Given the description of an element on the screen output the (x, y) to click on. 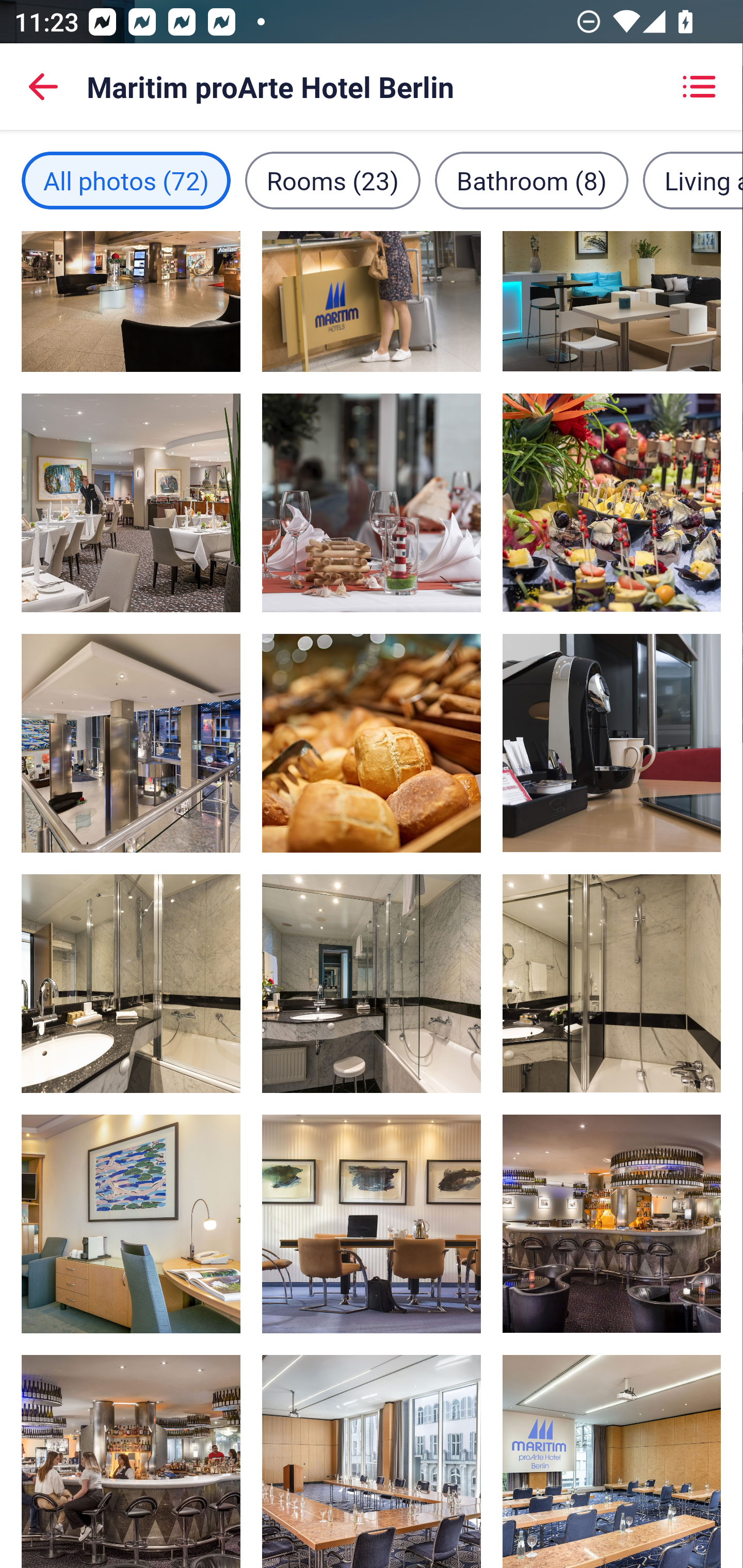
Back (43, 86)
Showing grid view (699, 86)
Rooms filter, 23 images (332, 180)
Bathroom filter, 8 images (531, 180)
Lobby, image (130, 300)
Reception, image (371, 300)
Serves lunch and dinner, image (611, 300)
Lobby, image (130, 742)
Daily buffet breakfast (EUR 24 per person), image (371, 742)
Free toiletries, hair dryer, towels, image (130, 983)
Free toiletries, hair dryer, towels, image (371, 983)
Free toiletries, hair dryer, towels, image (611, 983)
Presidential Suite | Private kitchen, image (371, 1223)
Serves lunch and dinner, image (611, 1223)
Serves lunch and dinner, image (130, 1461)
Meeting facility, image (371, 1461)
Meeting facility, image (611, 1461)
